Given the description of an element on the screen output the (x, y) to click on. 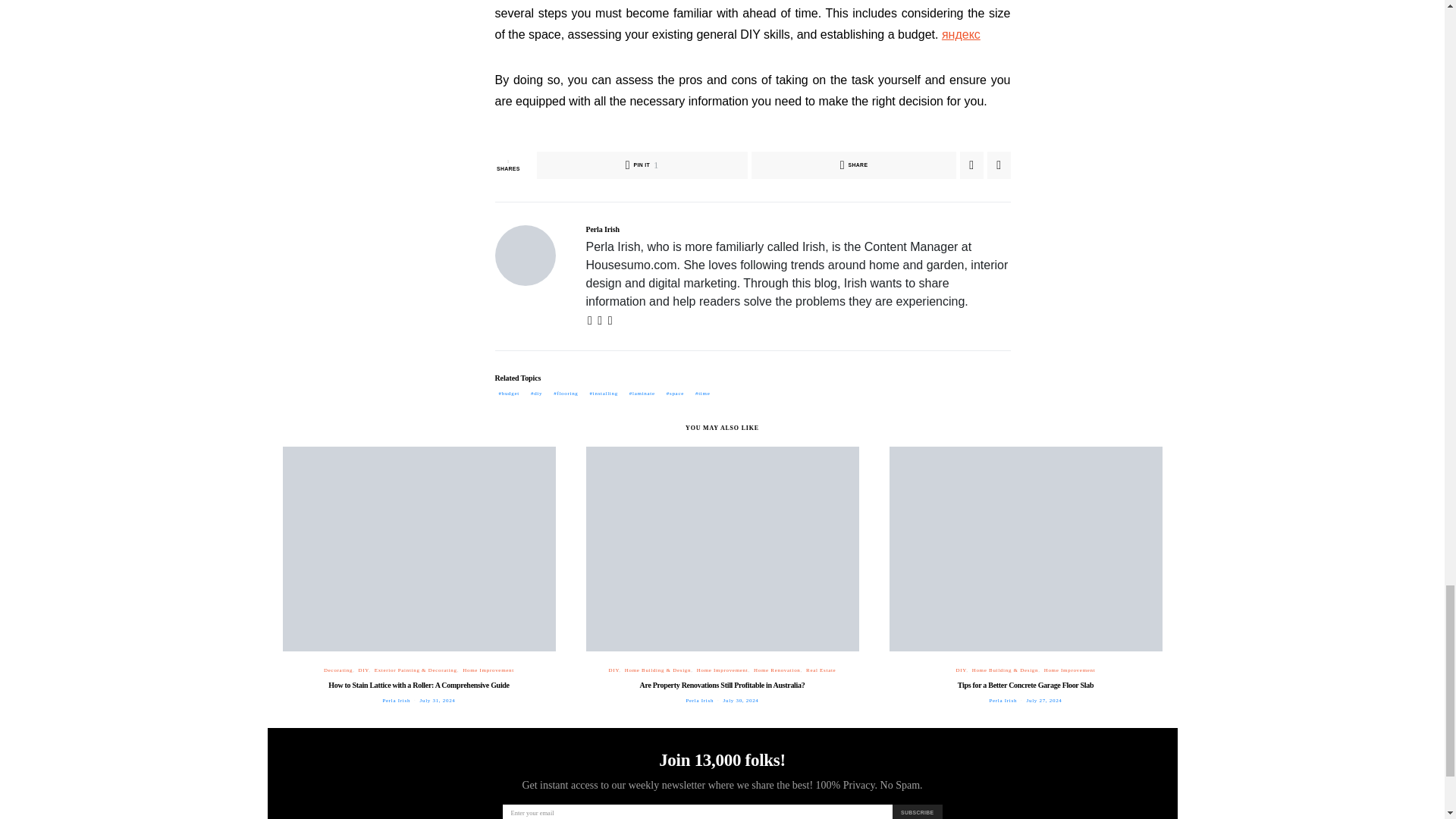
View all posts by Perla Irish (395, 700)
View all posts by Perla Irish (1002, 700)
View all posts by Perla Irish (699, 700)
